Given the description of an element on the screen output the (x, y) to click on. 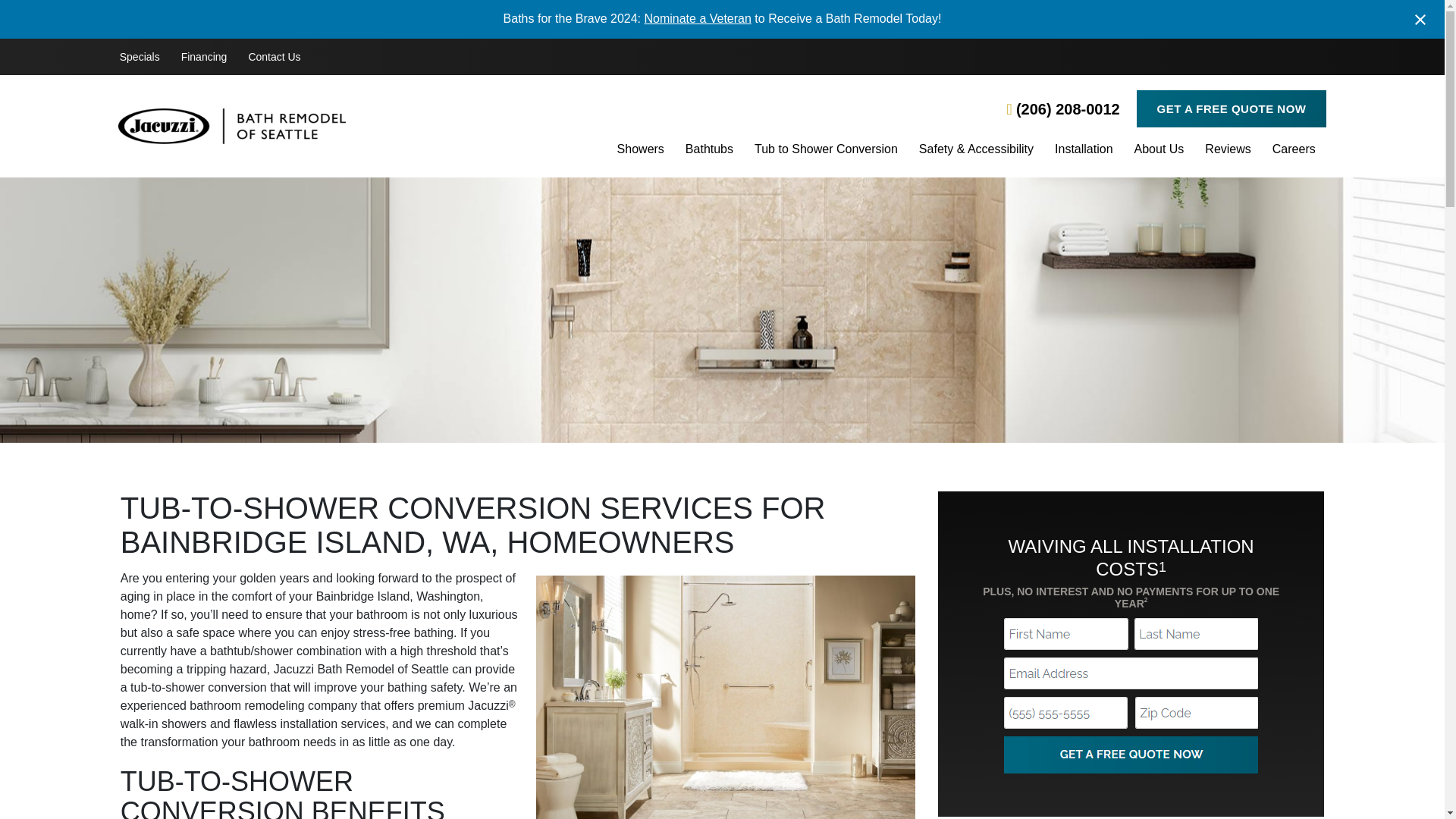
Tub-to-Shower Conversion Bainbridge Island WA  (725, 697)
Specials (139, 56)
GET A FREE QUOTE NOW (1230, 108)
Contact Us (274, 56)
Showers (640, 150)
Financing (204, 56)
Nominate a Veteran (697, 18)
Jacuzzi Bath Remodel of Seattle (319, 126)
